Given the description of an element on the screen output the (x, y) to click on. 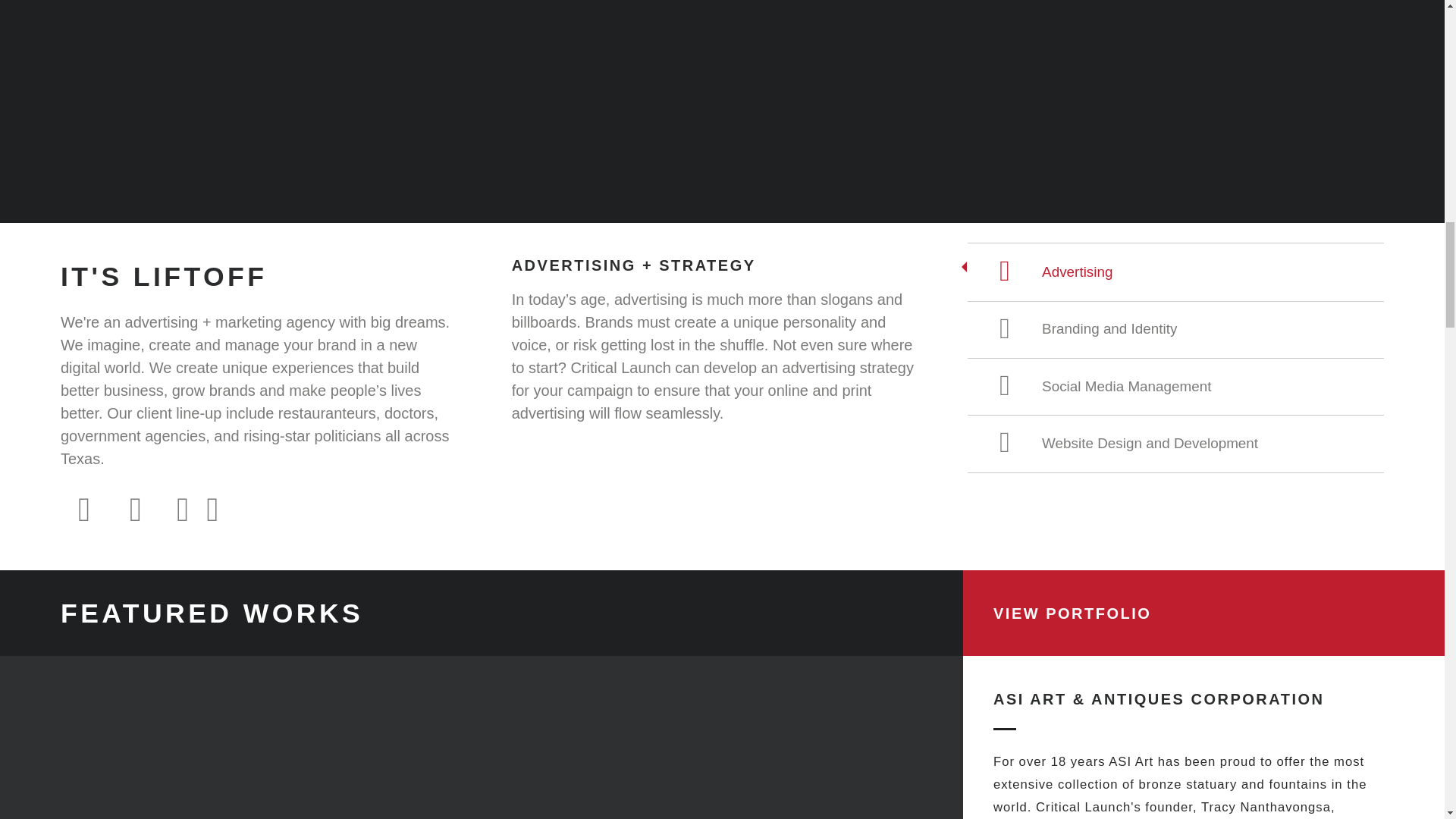
VIEW PORTFOLIO (1071, 613)
Website Design and Development (1176, 442)
Branding and Identity (1176, 329)
Advertising (1176, 271)
Social Media Management (1176, 385)
